Given the description of an element on the screen output the (x, y) to click on. 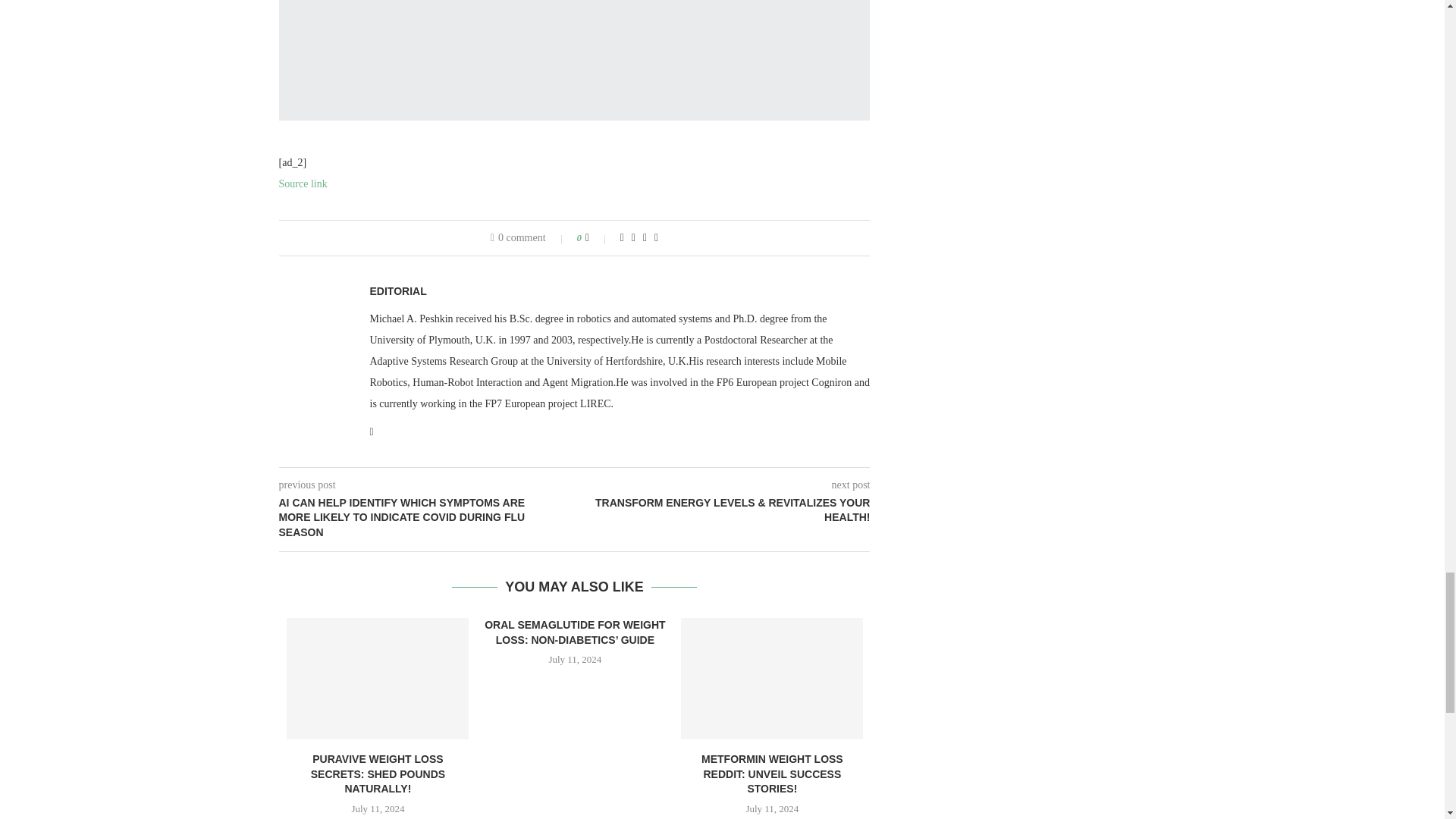
EDITORIAL (397, 291)
Puravive Weight Loss Secrets: Shed Pounds Naturally! (377, 678)
Author Editorial (397, 291)
Metformin Weight Loss Reddit: Unveil Success Stories! (772, 678)
Like (597, 237)
Source link (303, 183)
